Given the description of an element on the screen output the (x, y) to click on. 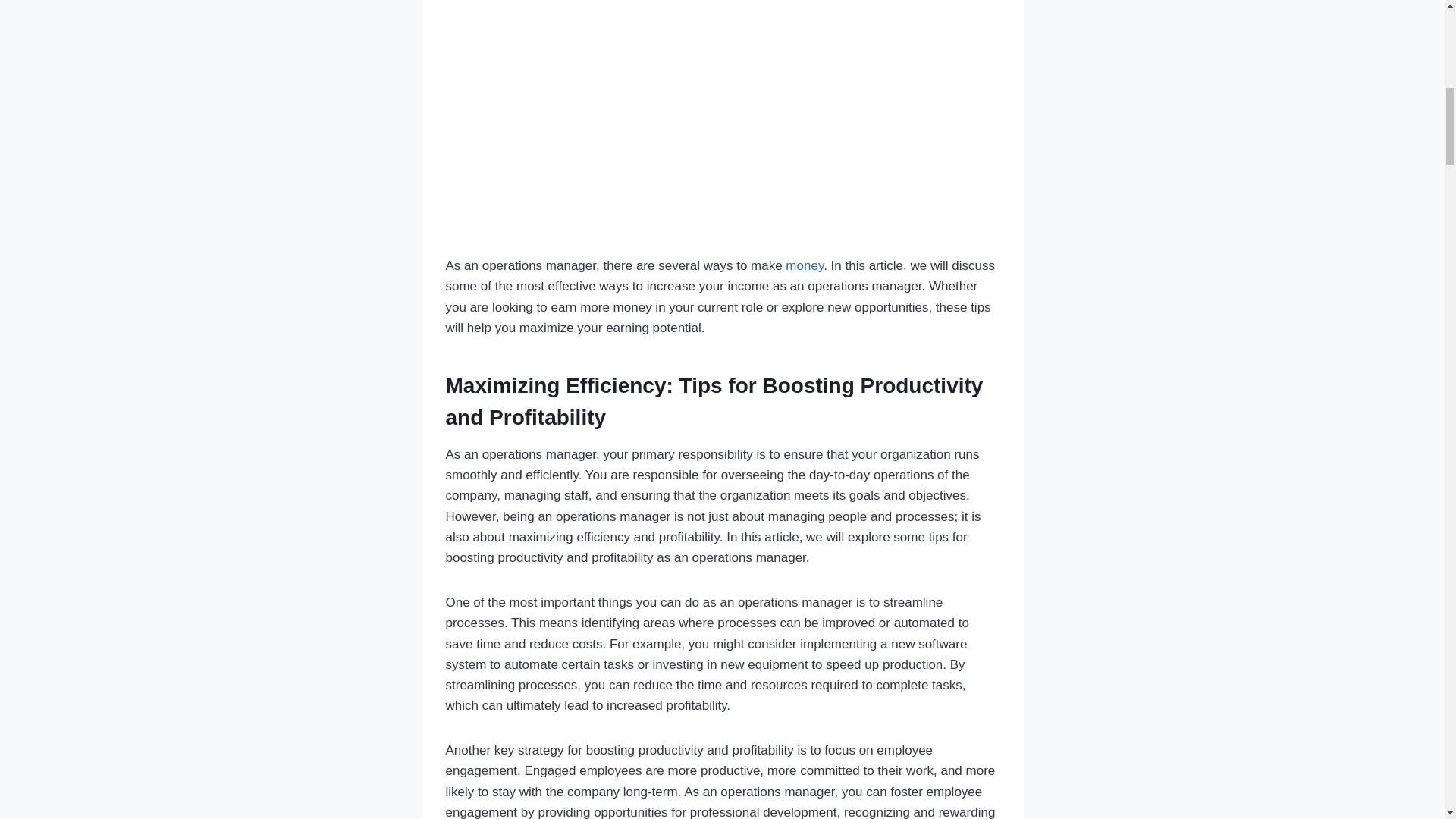
money (805, 265)
money (805, 265)
How To Make Money As A Operations Manager 2 (721, 115)
